Given the description of an element on the screen output the (x, y) to click on. 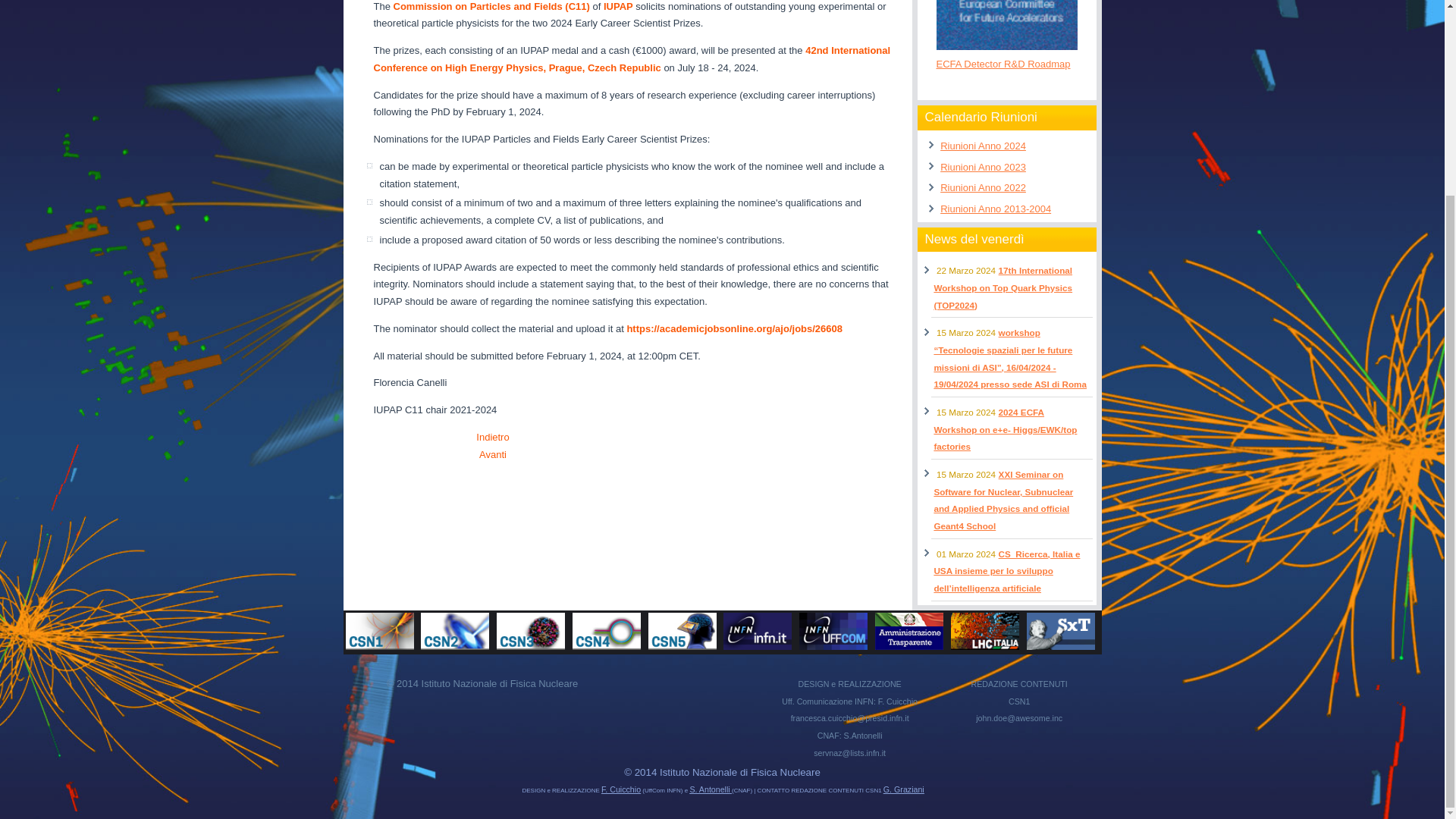
Avanti (492, 454)
IUPAP (618, 6)
Indietro (492, 437)
